Given the description of an element on the screen output the (x, y) to click on. 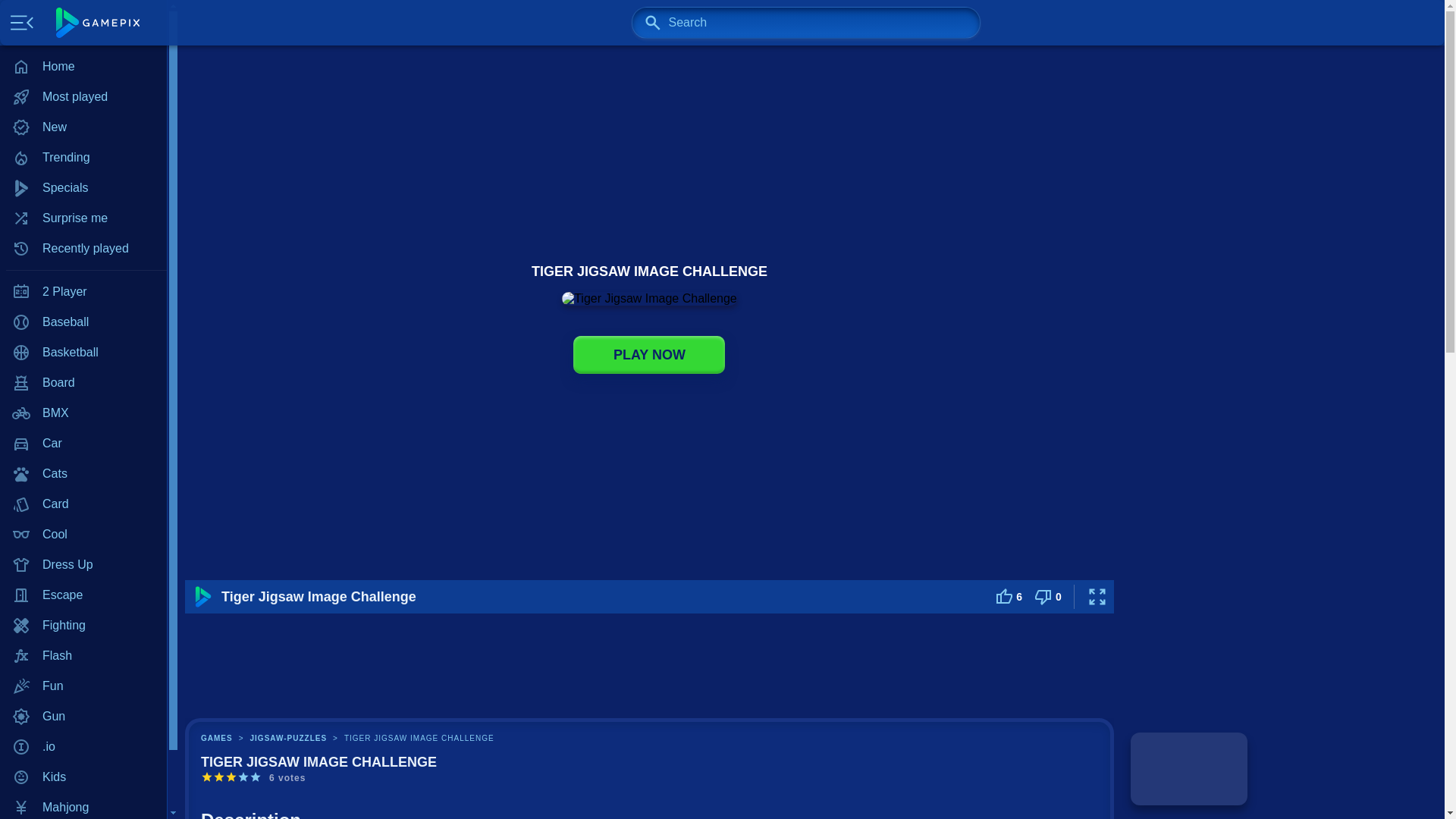
Trending (83, 157)
Most played (83, 96)
Card (83, 503)
New (83, 127)
Home (83, 66)
Home (83, 66)
Basketball (83, 352)
Cats (83, 473)
Baseball (83, 322)
Board (83, 382)
